Given the description of an element on the screen output the (x, y) to click on. 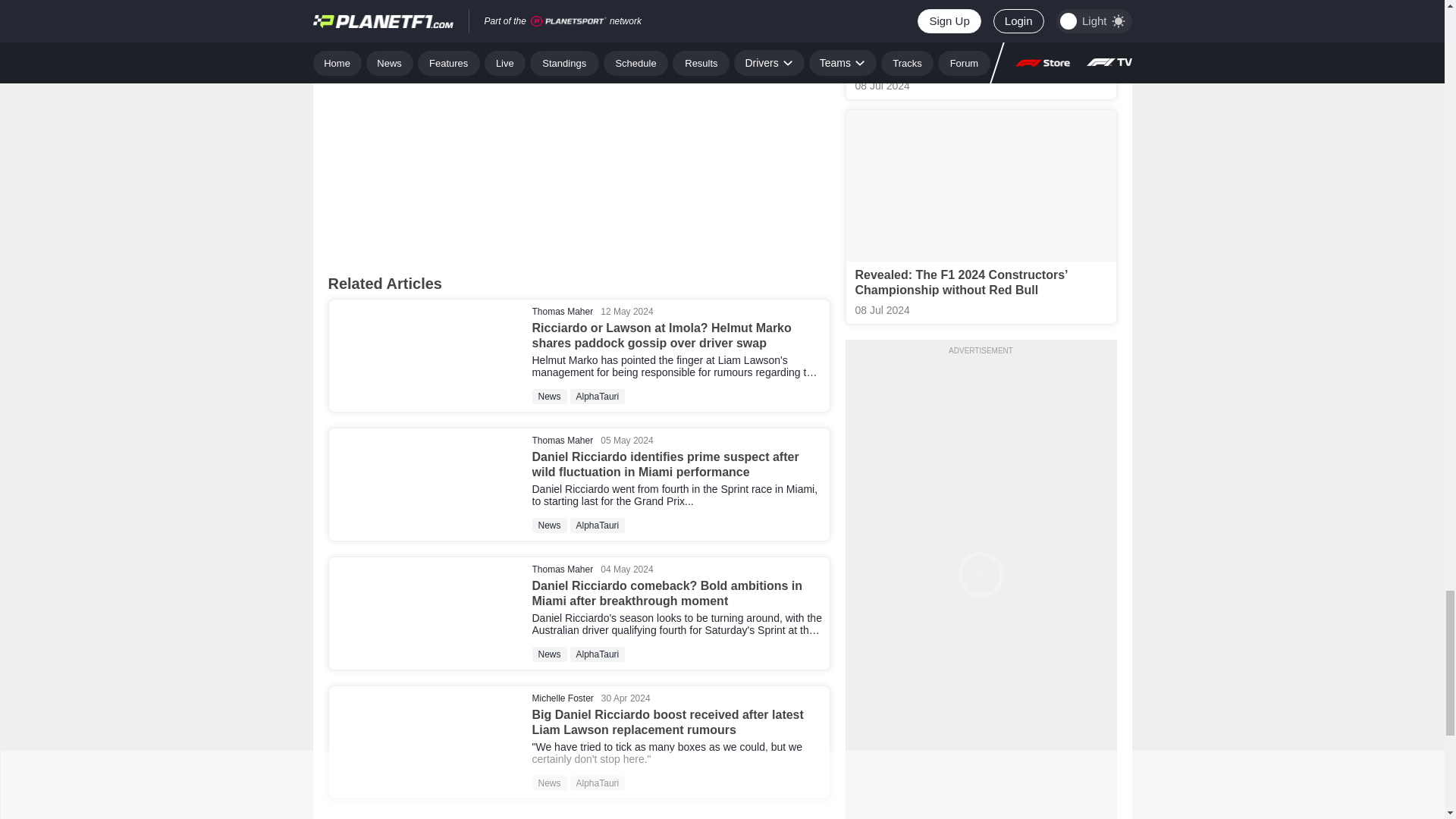
Vuukle Comments Widget (578, 139)
